Given the description of an element on the screen output the (x, y) to click on. 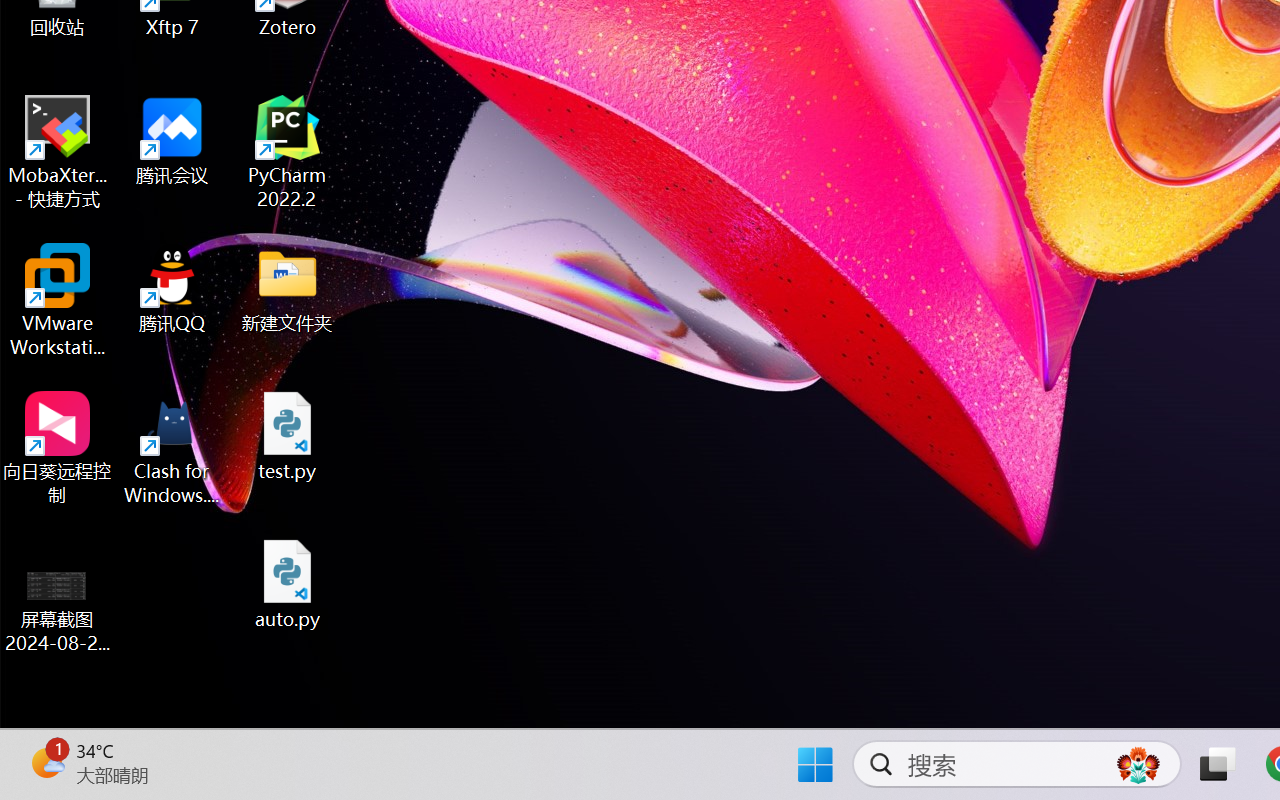
test.py (287, 436)
PyCharm 2022.2 (287, 152)
